Given the description of an element on the screen output the (x, y) to click on. 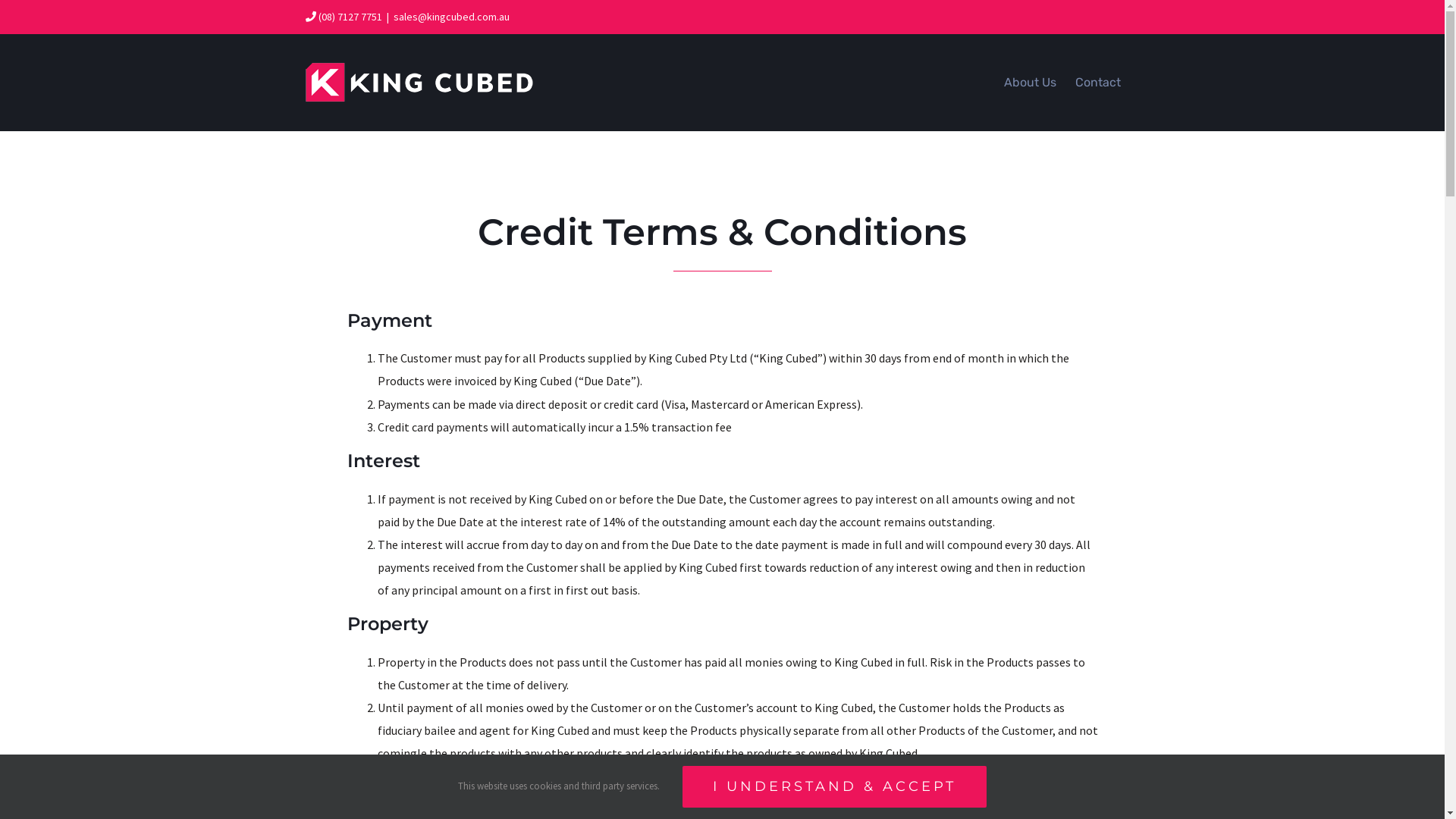
sales@kingcubed.com.au Element type: text (450, 16)
About Us Element type: text (1030, 82)
I UNDERSTAND & ACCEPT Element type: text (834, 786)
(08) 7127 7751 Element type: text (350, 16)
Contact Element type: text (1097, 82)
